Given the description of an element on the screen output the (x, y) to click on. 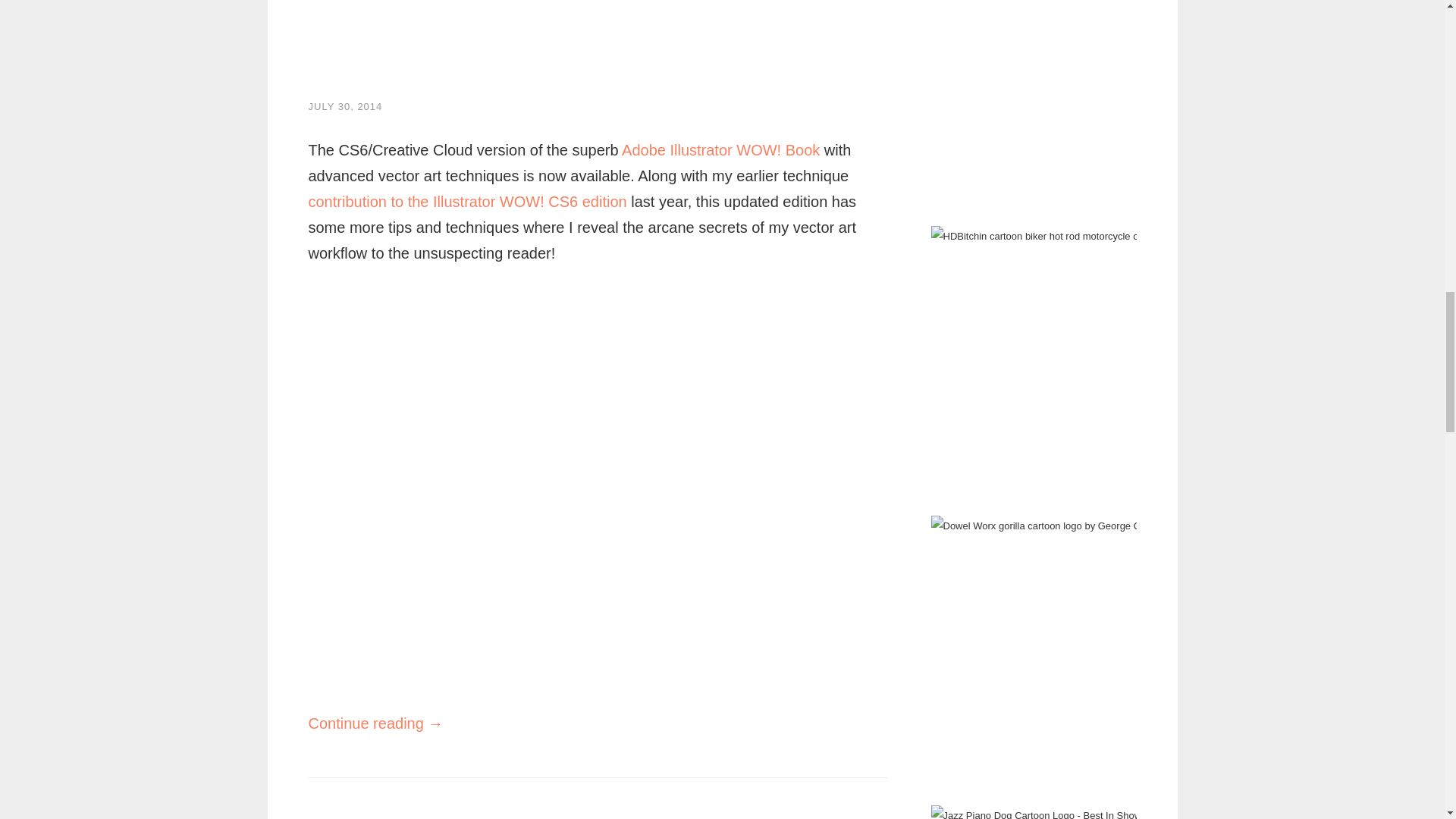
contribution to the Illustrator WOW! CS6 edition (466, 201)
Adobe Illustrator WOW! Book (720, 149)
JULY 30, 2014 (344, 106)
